Given the description of an element on the screen output the (x, y) to click on. 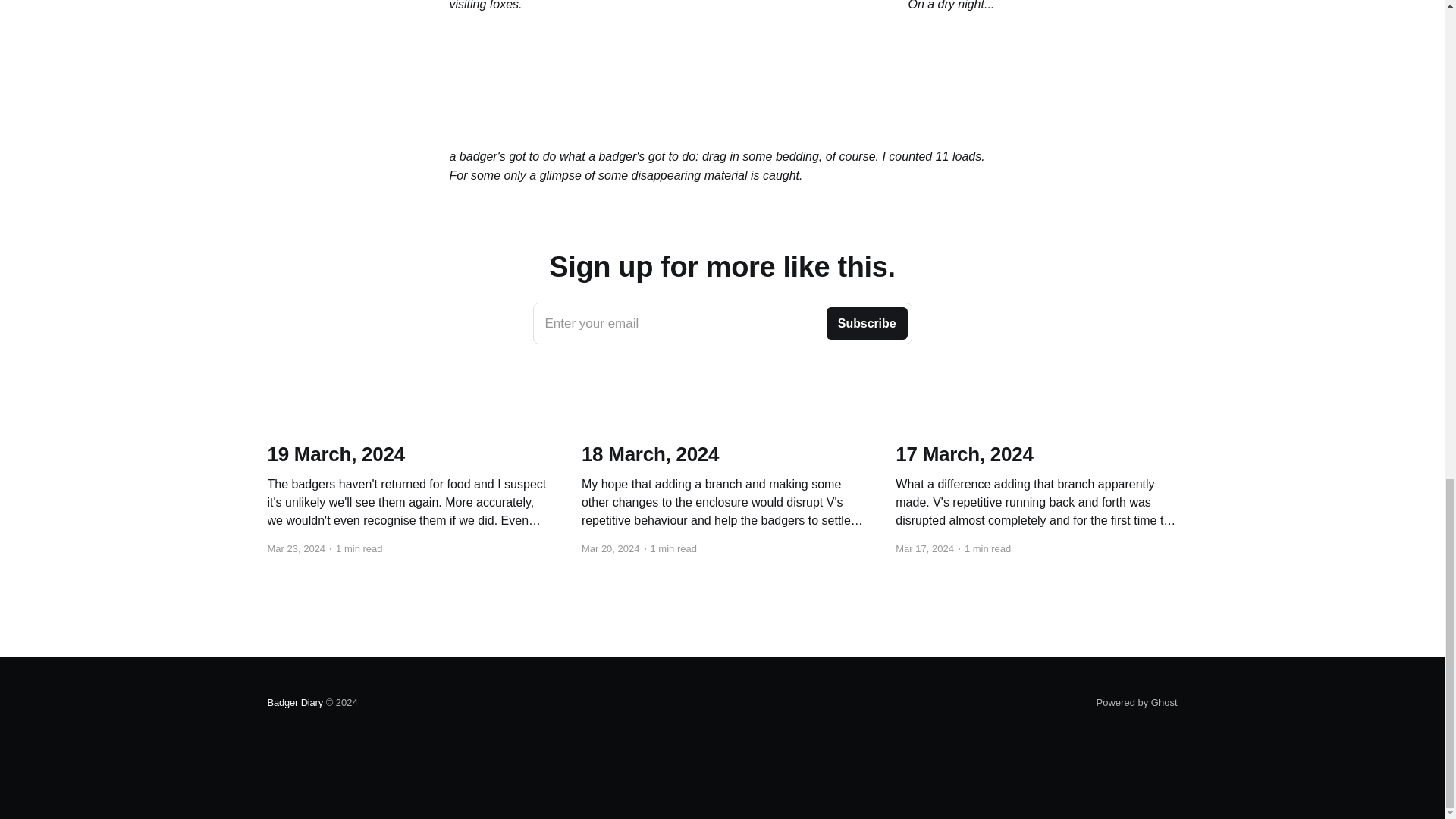
Powered by Ghost (721, 323)
Badger Diary (1136, 702)
